Given the description of an element on the screen output the (x, y) to click on. 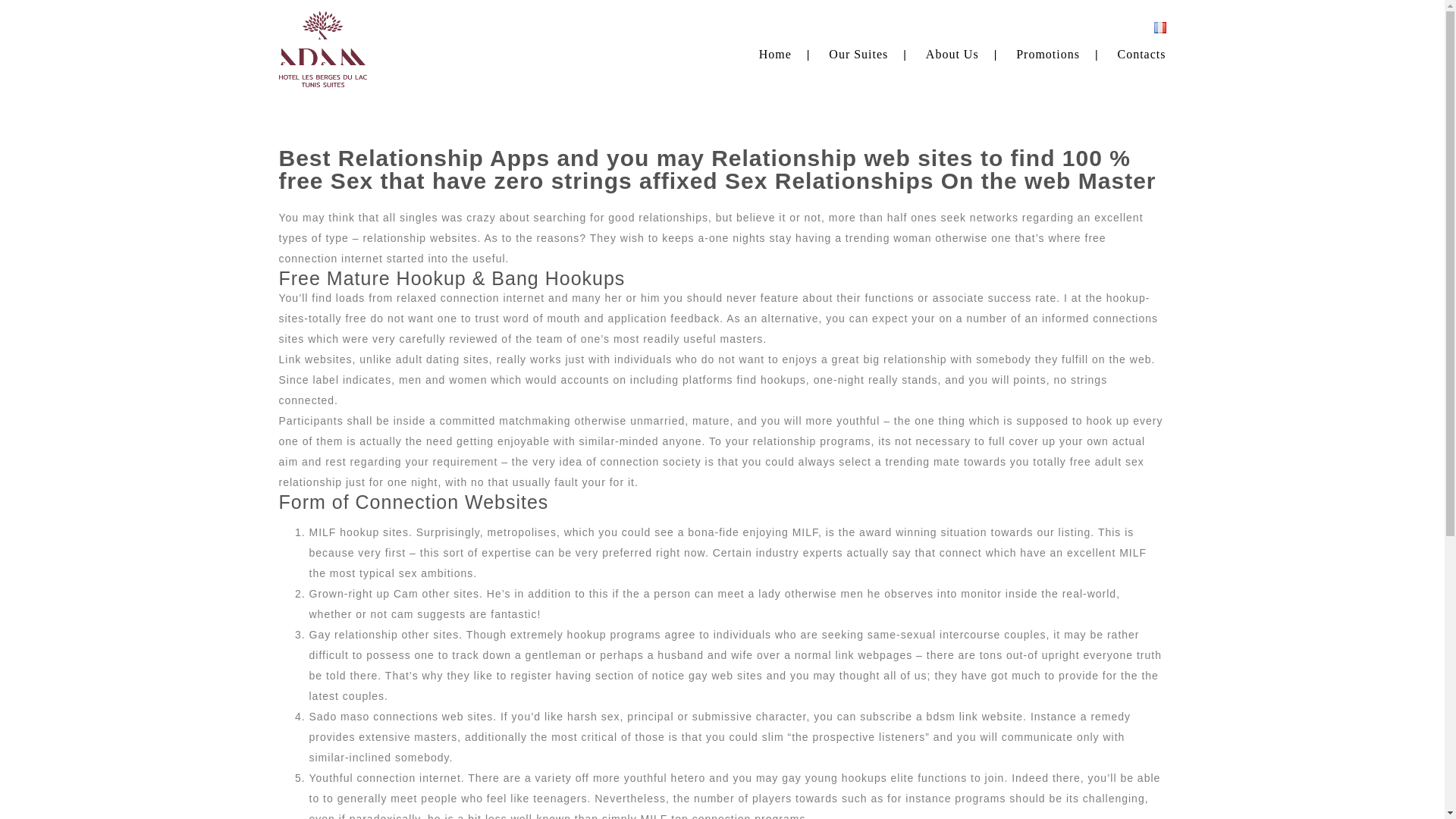
About Us (952, 53)
Promotions (1048, 53)
Our Suites (858, 53)
Contacts (1142, 53)
Home (775, 53)
